Given the description of an element on the screen output the (x, y) to click on. 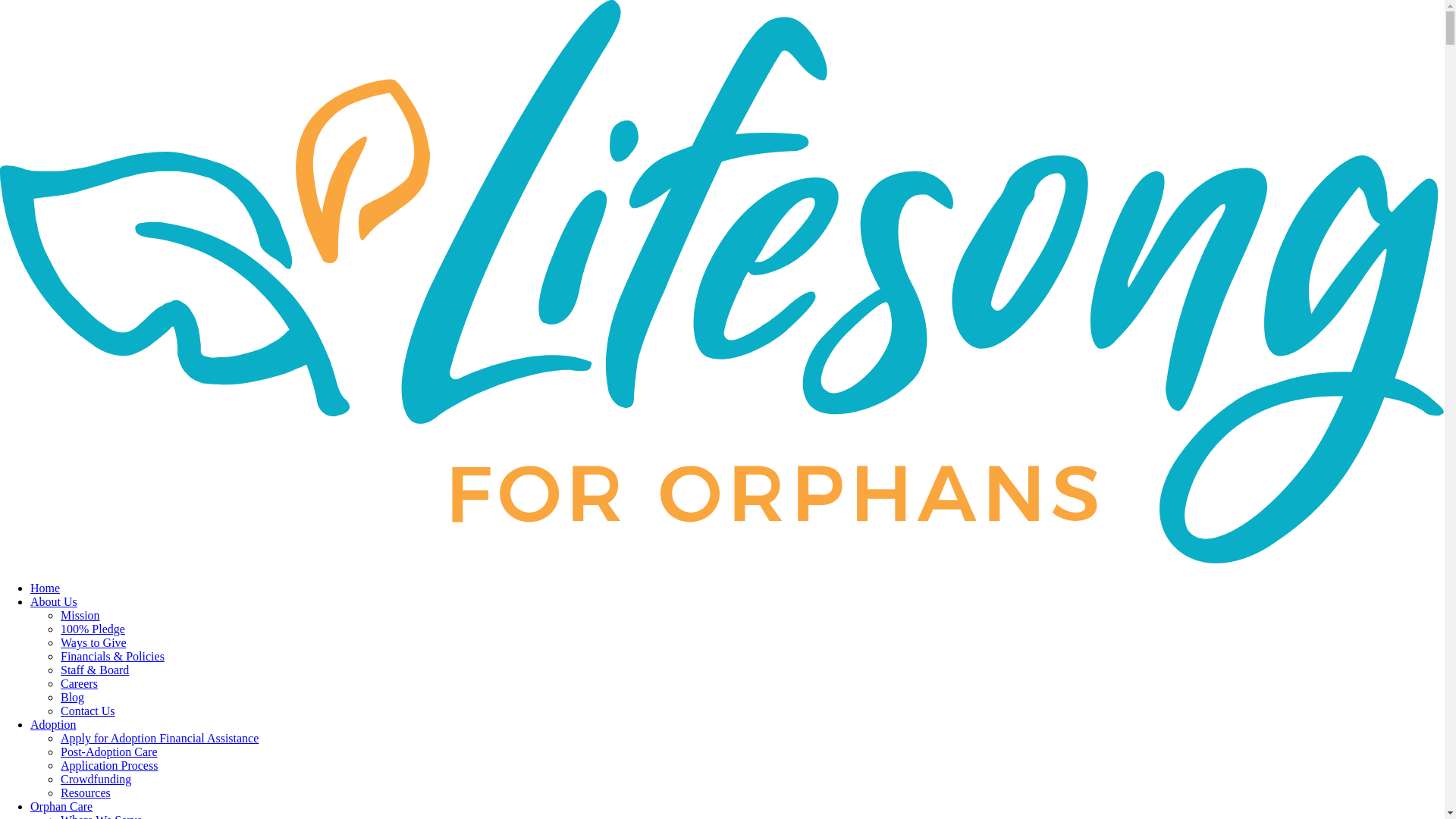
Blog (72, 697)
Mission (80, 615)
Application Process (109, 765)
Ways to Give (93, 642)
About Us (53, 601)
Resources (85, 792)
Contact Us (88, 710)
Orphan Care (61, 806)
Adoption (52, 724)
Apply for Adoption Financial Assistance (160, 738)
Post-Adoption Care (109, 751)
Careers (79, 683)
Crowdfunding (96, 779)
Home (44, 587)
Where We Serve (101, 816)
